Given the description of an element on the screen output the (x, y) to click on. 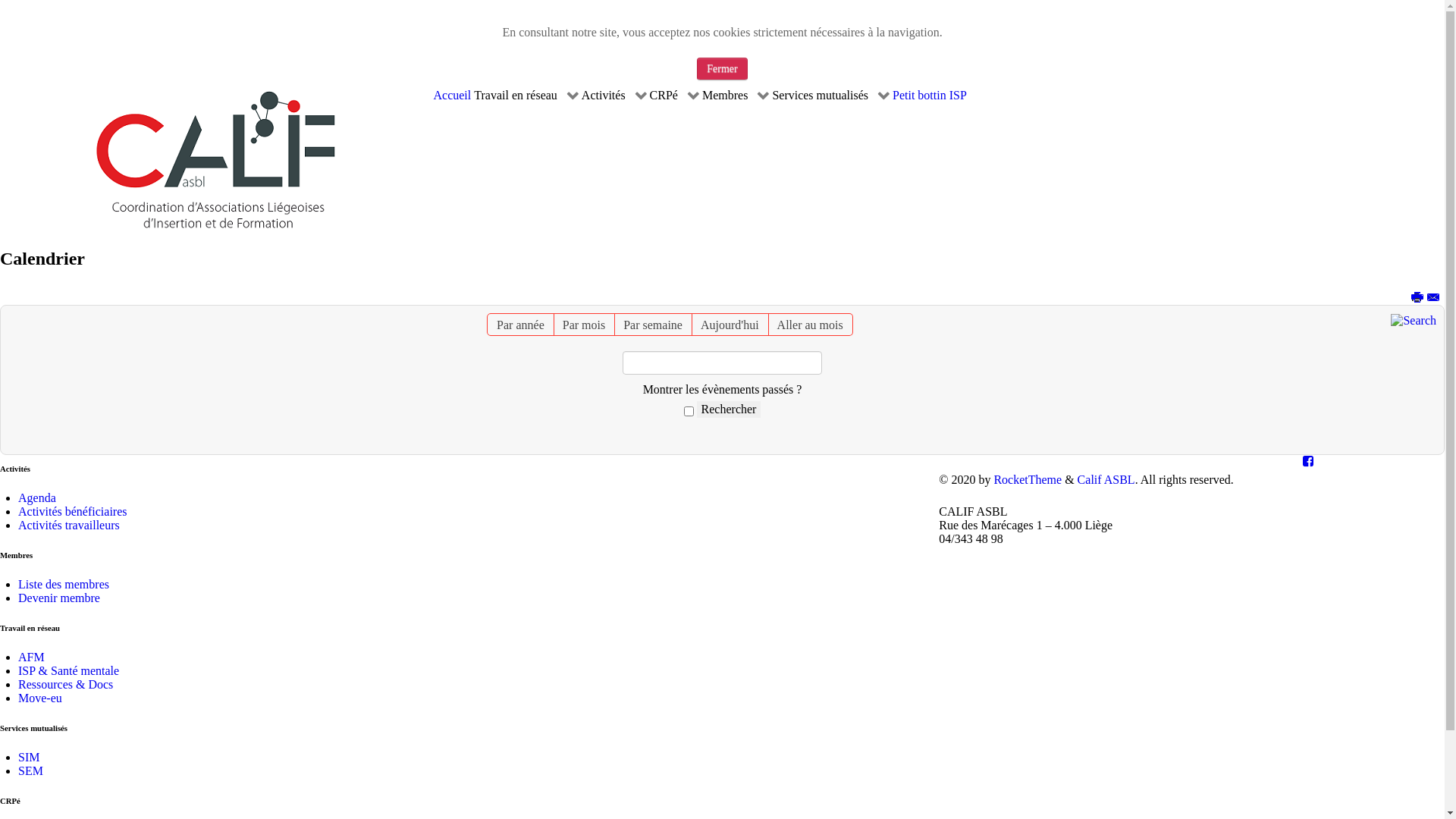
Imprimer Element type: hover (1417, 297)
Par mois Element type: text (583, 324)
Devenir membre Element type: text (59, 597)
SIM Element type: text (28, 756)
Rechercher Element type: hover (1413, 319)
Move-eu Element type: text (40, 697)
Agenda Element type: text (37, 497)
Aller au mois Element type: text (810, 324)
Accueil Element type: text (452, 94)
Rechercher Element type: text (728, 409)
Calif Asbl Element type: hover (216, 162)
Liste des membres Element type: text (63, 583)
Ressources & Docs Element type: text (65, 683)
Calif ASBL Element type: text (1106, 479)
EMAIL Element type: hover (1433, 297)
SEM Element type: text (30, 770)
RocketTheme Element type: text (1027, 479)
AFM Element type: text (31, 656)
Petit bottin ISP Element type: text (929, 94)
Fermer Element type: text (721, 68)
Par semaine Element type: text (652, 324)
Aujourd'hui Element type: text (729, 324)
